Given the description of an element on the screen output the (x, y) to click on. 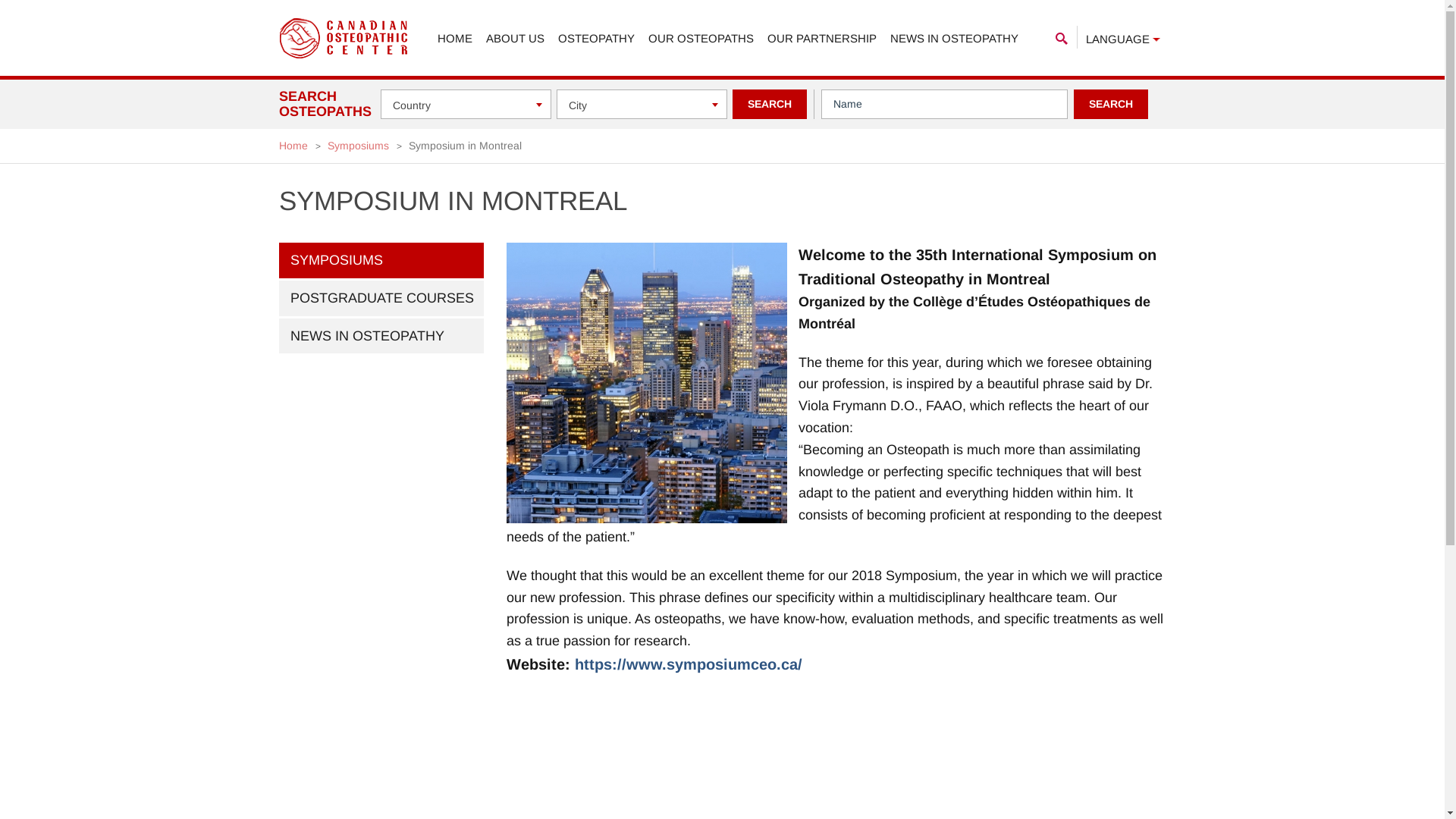
LANGUAGE Element type: text (1122, 36)
NEWS IN OSTEOPATHY Element type: text (381, 336)
NEWS IN OSTEOPATHY Element type: text (953, 38)
HOME Element type: text (454, 38)
SYMPOSIUMS Element type: text (381, 260)
SEARCH Element type: text (769, 104)
Home Element type: text (293, 145)
POSTGRADUATE COURSES Element type: text (381, 298)
ABOUT US Element type: text (514, 38)
OUR PARTNERSHIP Element type: text (821, 38)
SEARCH Element type: text (1110, 104)
OSTEOPATHY Element type: text (596, 38)
OUR OSTEOPATHS Element type: text (700, 38)
https://www.symposiumceo.ca/ Element type: text (688, 663)
Symposiums Element type: text (358, 145)
